Given the description of an element on the screen output the (x, y) to click on. 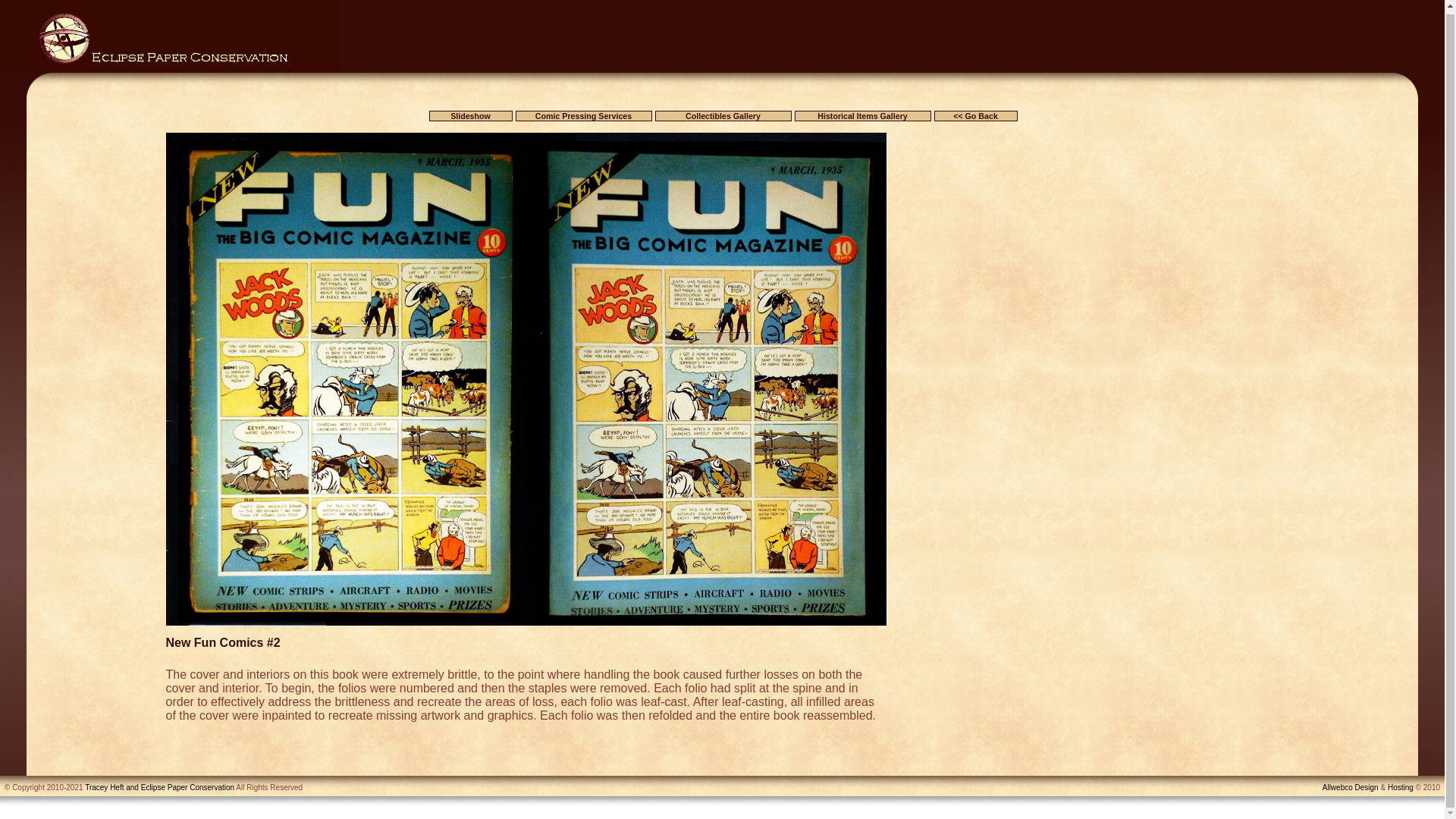
Tracey Heft and Eclipse Paper Conservation (159, 786)
Collectibles Gallery (723, 115)
Allwebco Design (1350, 786)
Comic Pressing Services (583, 115)
Hosting (1400, 786)
Historical Items Gallery (862, 115)
Slideshow (470, 115)
